Given the description of an element on the screen output the (x, y) to click on. 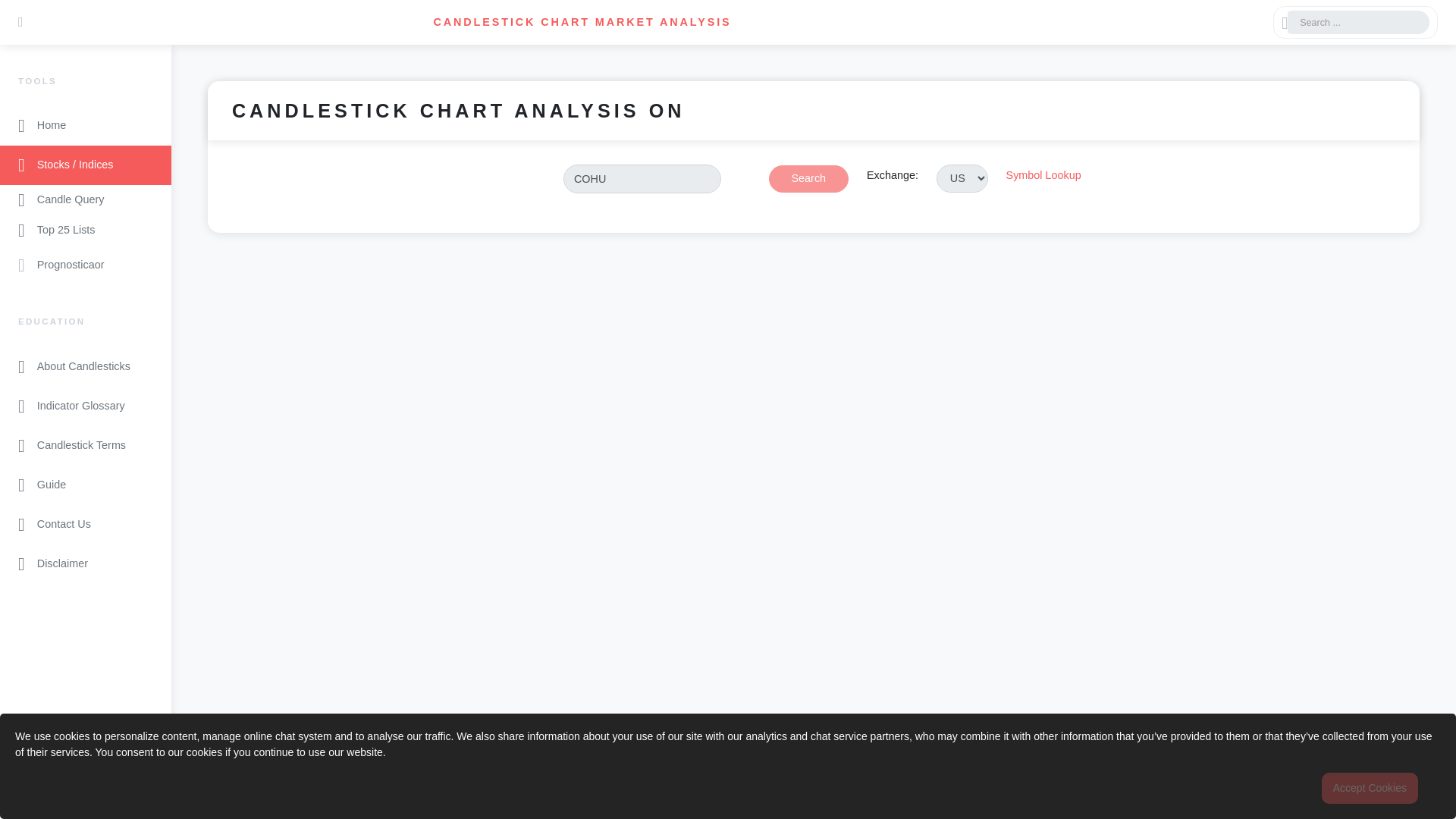
Search (808, 178)
Prognosticaor (85, 265)
Candlestick Terms (85, 445)
Home (85, 125)
CANDLESTICK CHART MARKET ANALYSIS (582, 21)
Contact Us (85, 524)
Candle Query (85, 200)
Guide (85, 485)
Symbol Lookup (1043, 186)
About Candlesticks (85, 366)
COHU (641, 178)
Accept Cookies (1370, 788)
Indicator Glossary (85, 405)
Top 25 Lists (85, 230)
